Given the description of an element on the screen output the (x, y) to click on. 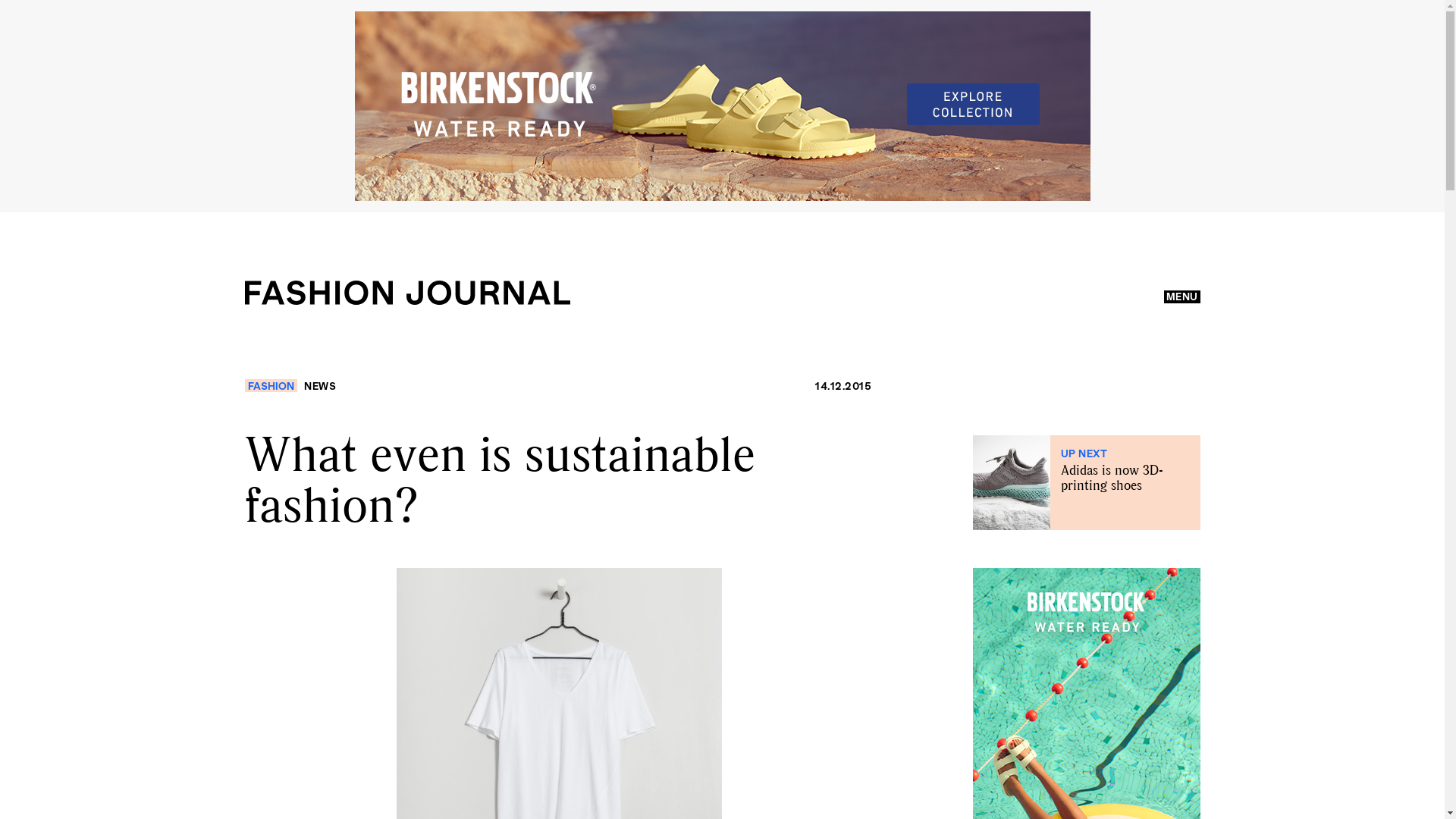
UP NEXT
Adidas is now 3D-printing shoes Element type: text (1085, 482)
MENU Element type: text (1181, 296)
NEWS Element type: text (319, 385)
FASHION Element type: text (270, 385)
3rd party ad content Element type: hover (722, 105)
